Given the description of an element on the screen output the (x, y) to click on. 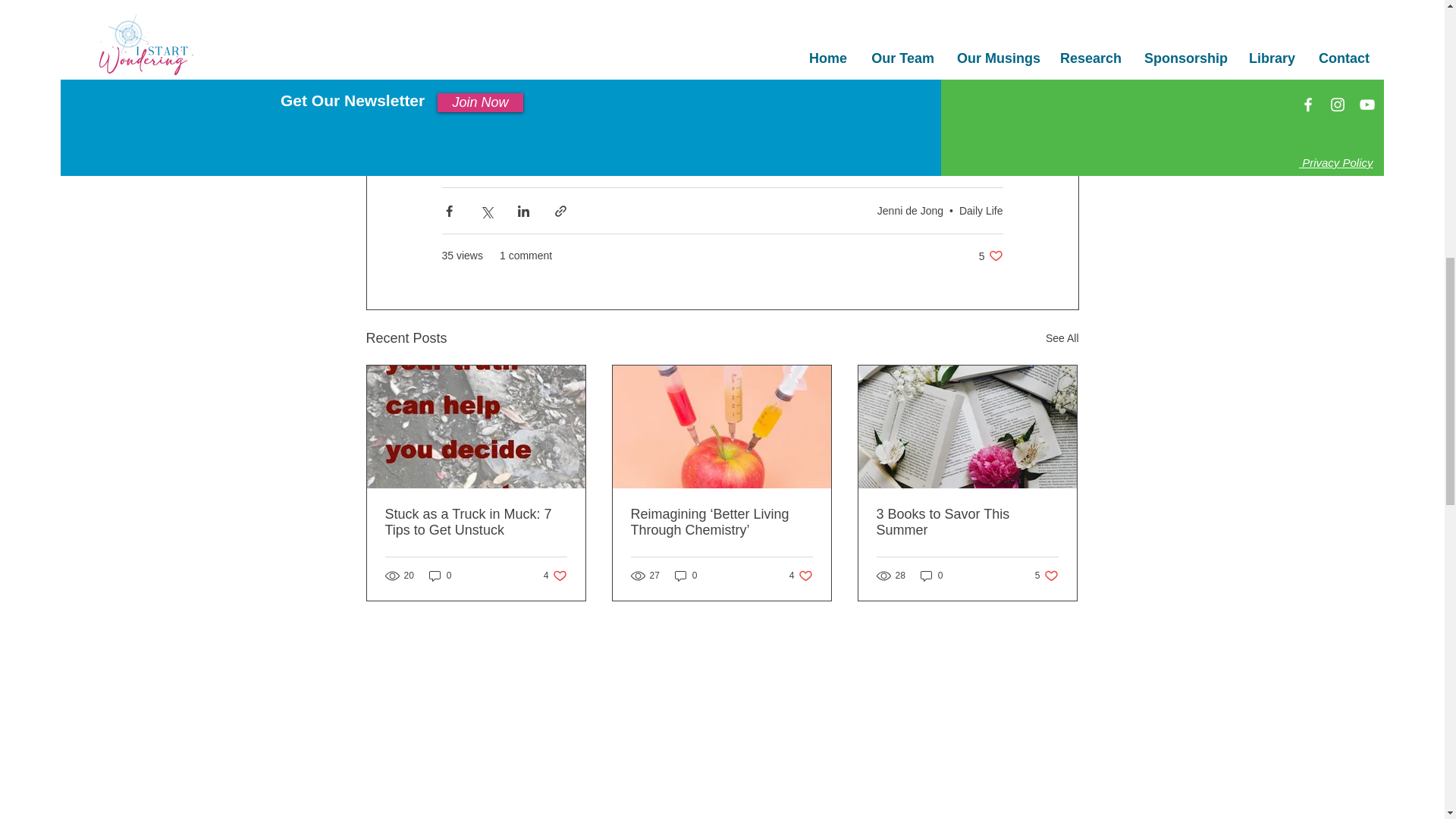
seasoned women (579, 66)
older women (481, 66)
aging (659, 66)
embracing aging (822, 66)
women at midlife and beyond (519, 95)
third chapter in life (764, 95)
celebrating aging (655, 95)
next chapter in life (878, 95)
getting older (727, 66)
